Given the description of an element on the screen output the (x, y) to click on. 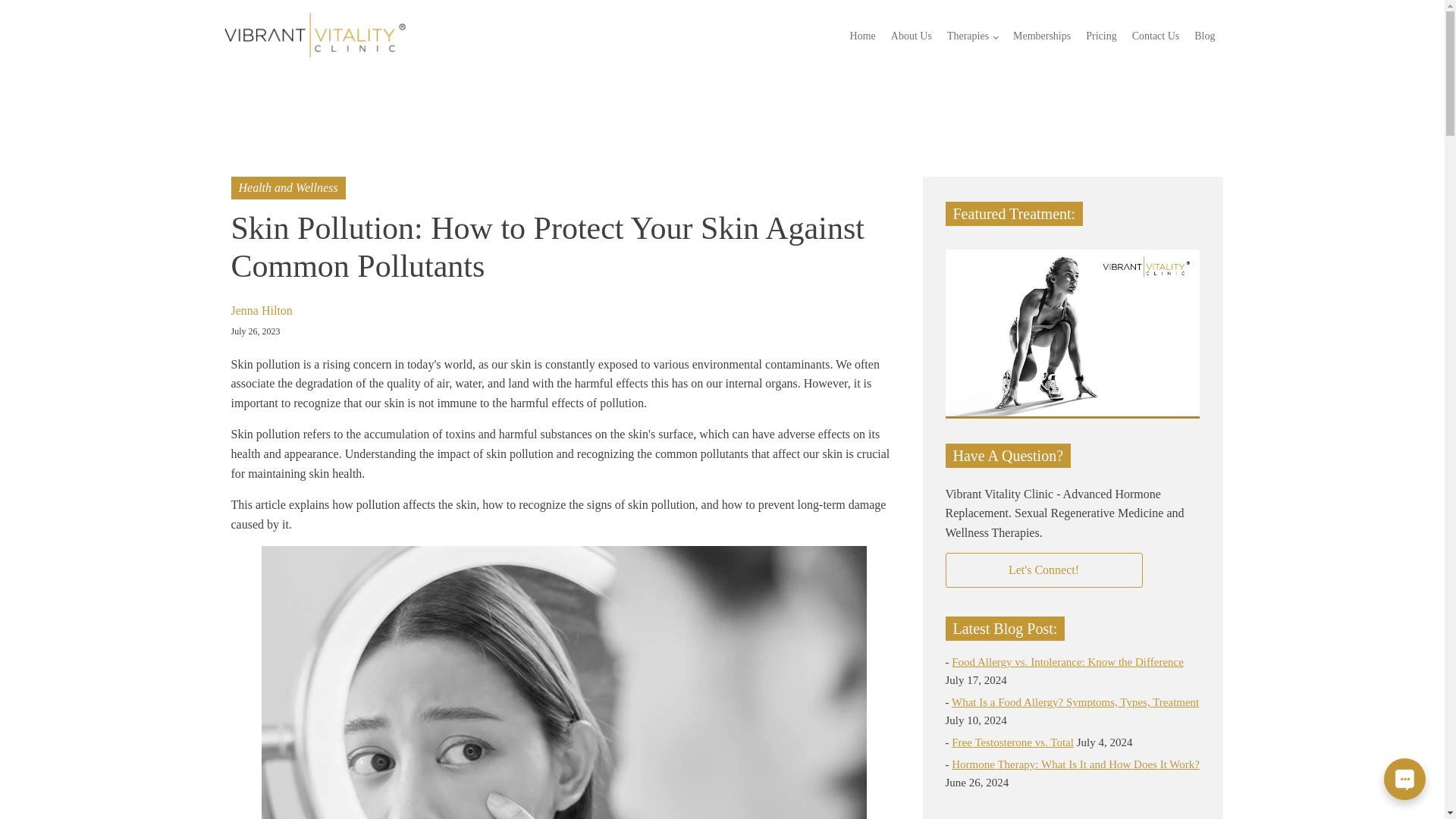
What Is a Food Allergy? Symptoms, Types, Treatment (1075, 702)
Hormone Therapy: What Is It and How Does It Work? (1075, 764)
Memberships (1042, 36)
Let's Connect! (1042, 570)
Free Testosterone vs. Total (1013, 742)
Therapies (972, 36)
Pricing (1101, 36)
About Us (911, 36)
Food Allergy vs. Intolerance: Know the Difference (1067, 662)
Health and Wellness (287, 187)
Contact Us (1156, 36)
